Given the description of an element on the screen output the (x, y) to click on. 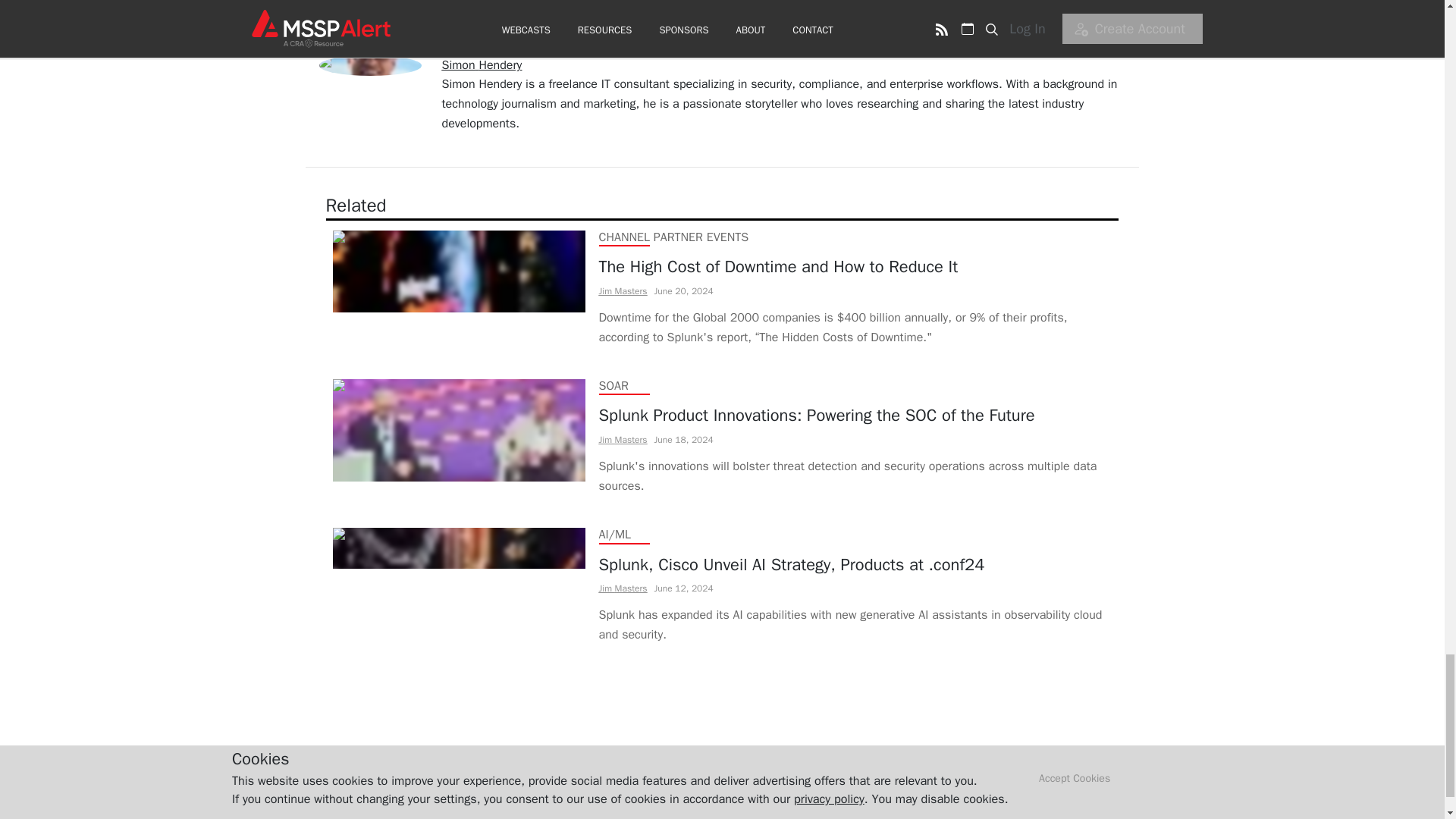
SOAR (613, 385)
CHANNEL PARTNER EVENTS (673, 237)
Splunk Product Innovations: Powering the SOC of the Future (855, 415)
The High Cost of Downtime and How to Reduce It (855, 266)
Jim Masters (622, 439)
Simon Hendery (481, 64)
Jim Masters (622, 588)
Jim Masters (622, 291)
Splunk, Cisco Unveil AI Strategy, Products at .conf24 (855, 564)
